Given the description of an element on the screen output the (x, y) to click on. 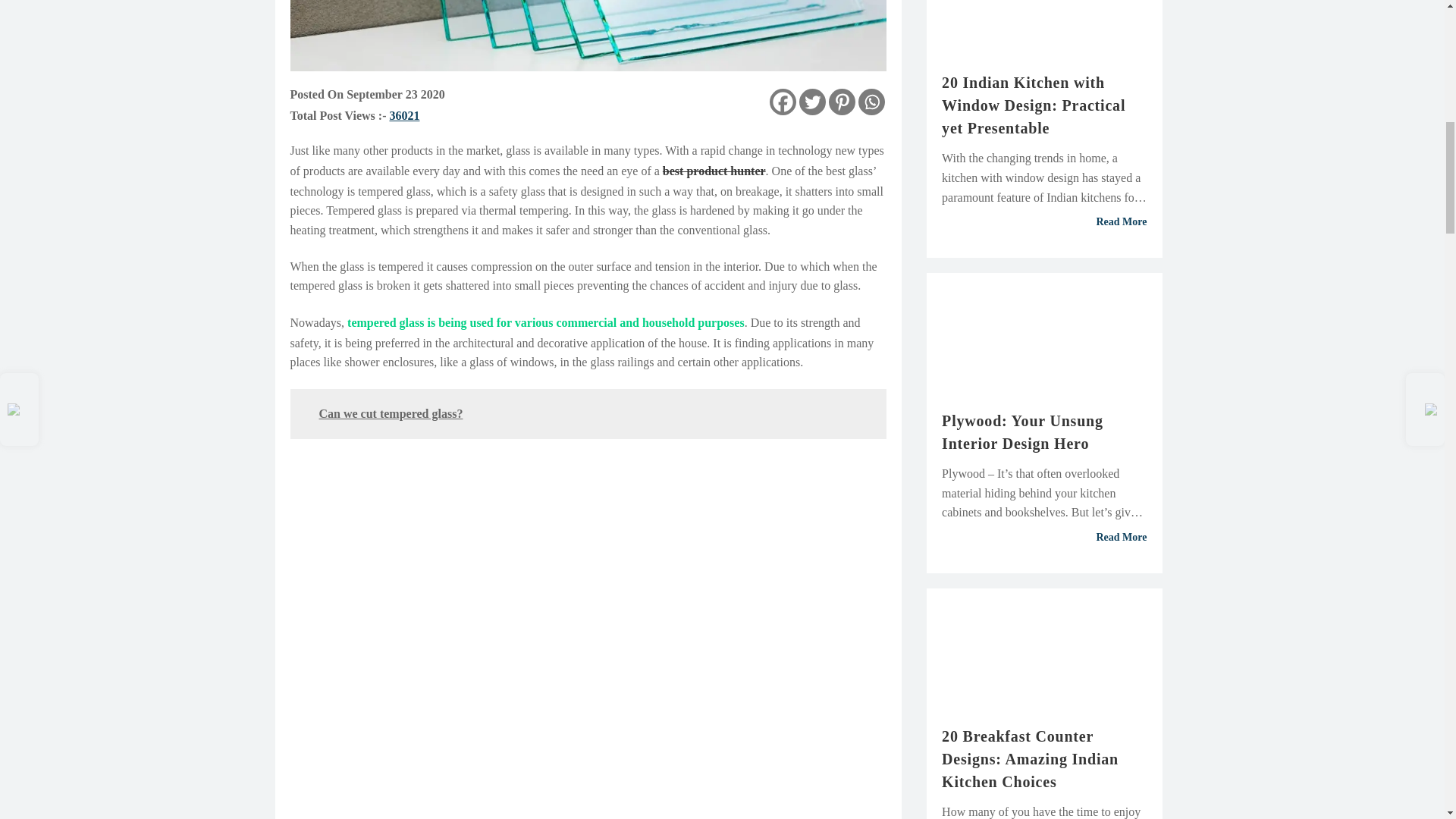
Read More (1044, 537)
20 Breakfast Counter Designs: Amazing Indian Kitchen Choices (1044, 758)
Plywood: Your Unsung Interior Design Hero (1044, 432)
Read More (1044, 222)
best product hunter (713, 170)
